Given the description of an element on the screen output the (x, y) to click on. 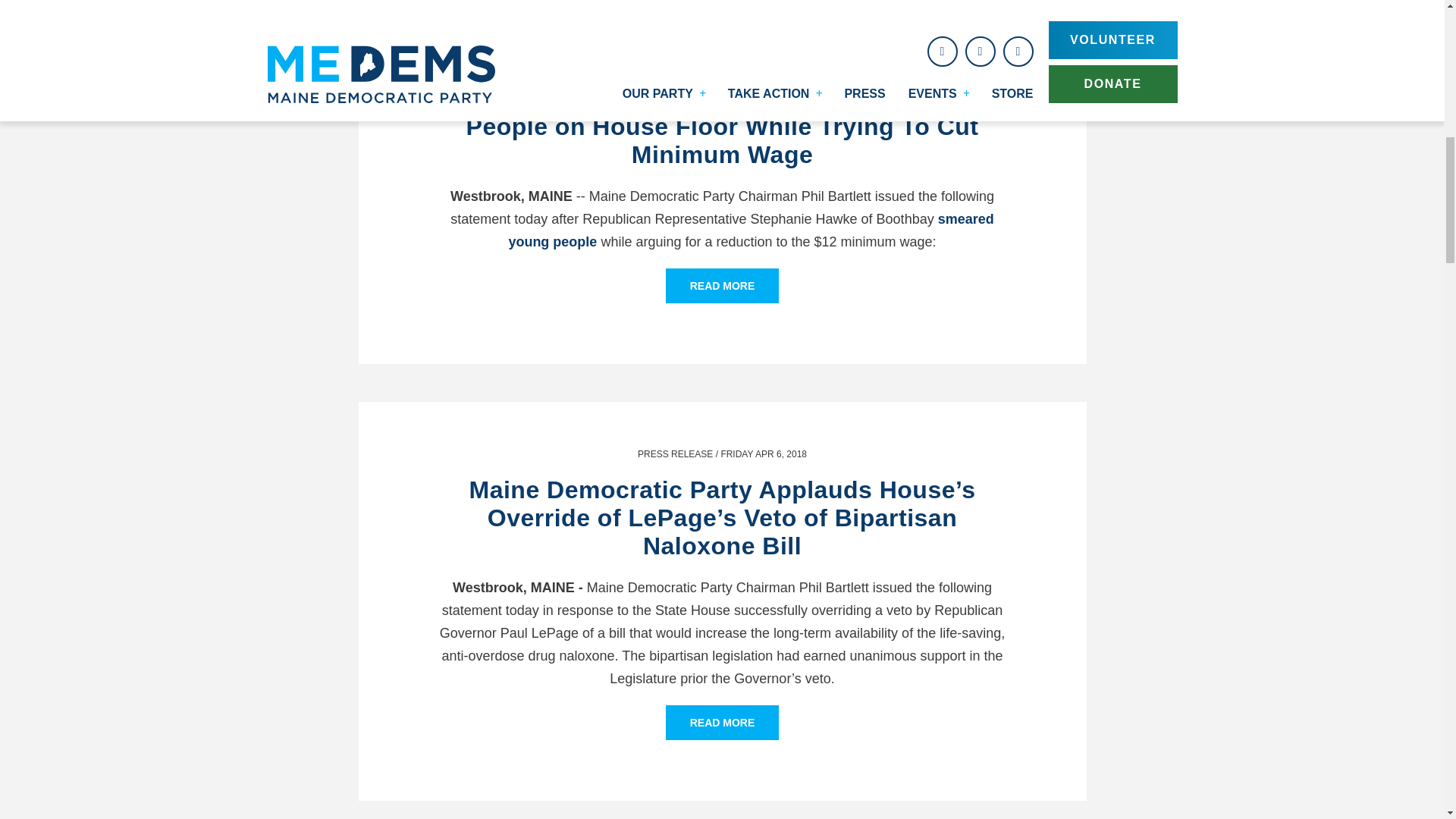
PRESS RELEASE (675, 62)
smeared young people (750, 230)
PRESS RELEASE (675, 453)
Show all Press Releases (675, 453)
READ MORE (722, 285)
Show all Press Releases (675, 62)
